Given the description of an element on the screen output the (x, y) to click on. 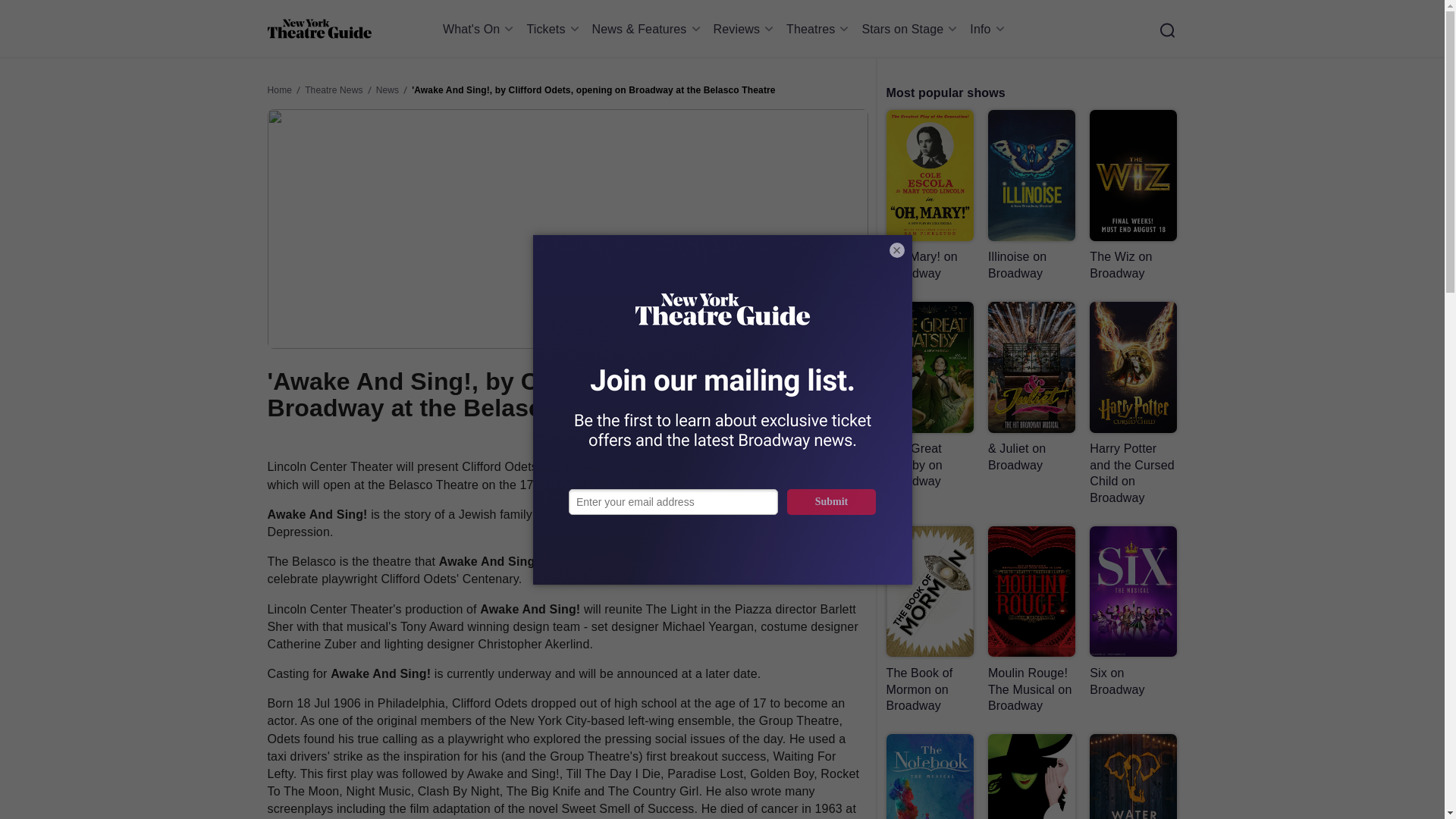
Theatres (819, 28)
Tickets (554, 28)
Reviews (745, 28)
What's On (480, 28)
Home (318, 28)
Read more about The Notebook: The Musical on Broadway (928, 776)
Read more about Wicked on Broadway (1031, 776)
Read more about Water For Elephants on Broadway (1132, 776)
